Given the description of an element on the screen output the (x, y) to click on. 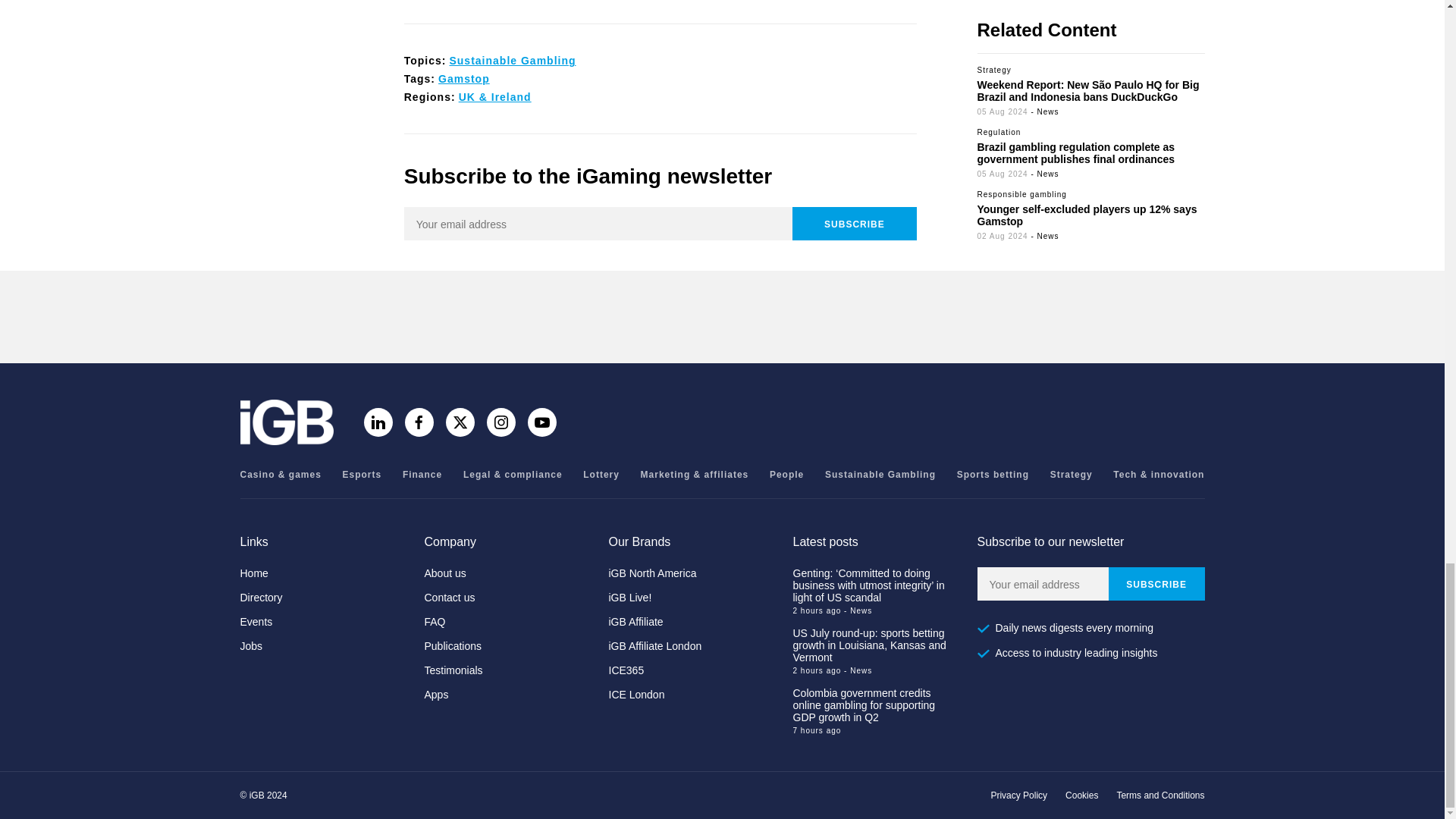
Subscribe (853, 223)
Subscribe (1156, 583)
3rd party ad content (721, 316)
